Given the description of an element on the screen output the (x, y) to click on. 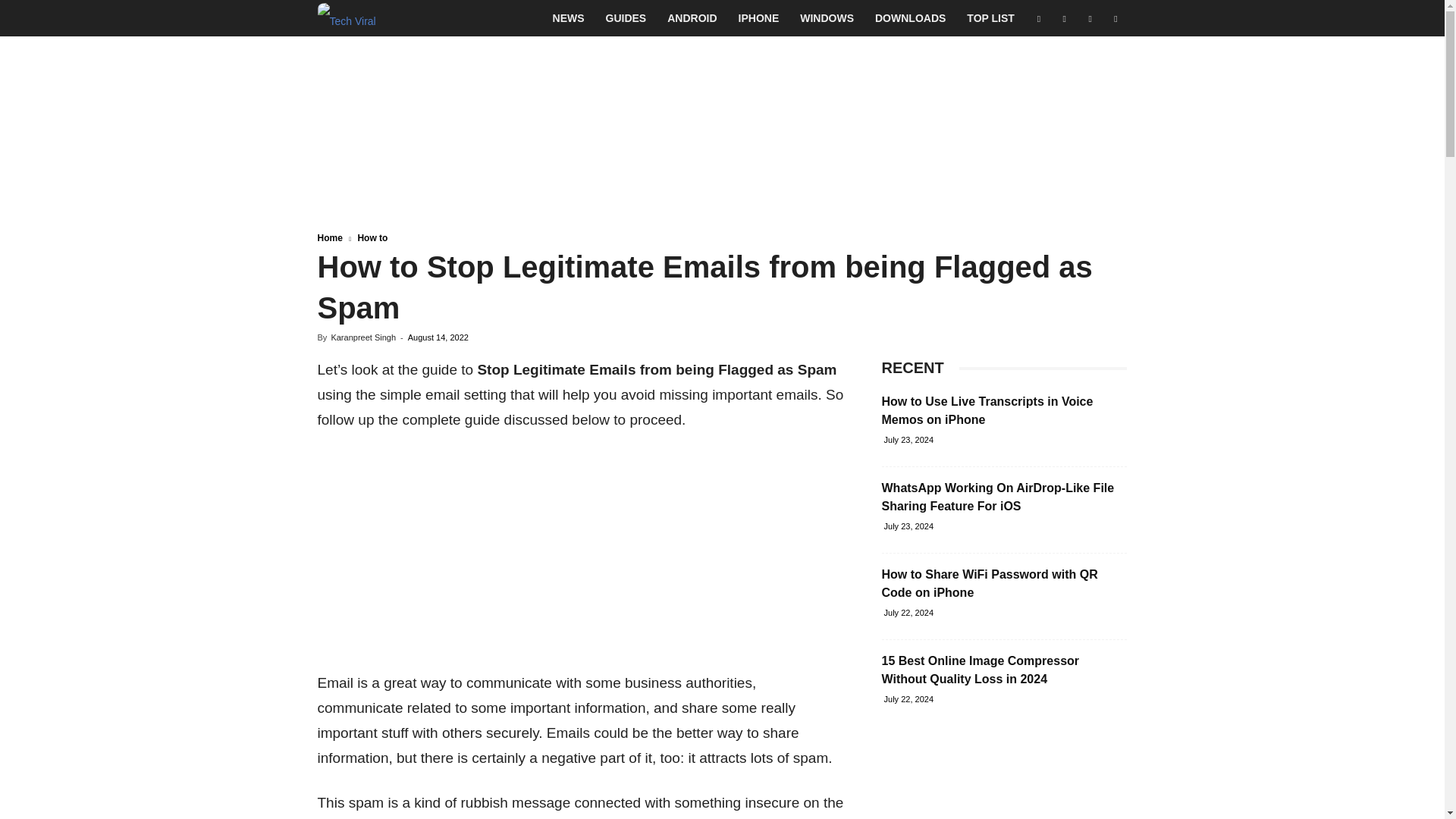
TOP LIST (990, 18)
Tech Viral (346, 18)
GUIDES (626, 18)
NEWS (568, 18)
Home (329, 237)
TechViral (346, 18)
IPHONE (759, 18)
ANDROID (691, 18)
WINDOWS (826, 18)
DOWNLOADS (910, 18)
Karanpreet Singh (363, 337)
